Given the description of an element on the screen output the (x, y) to click on. 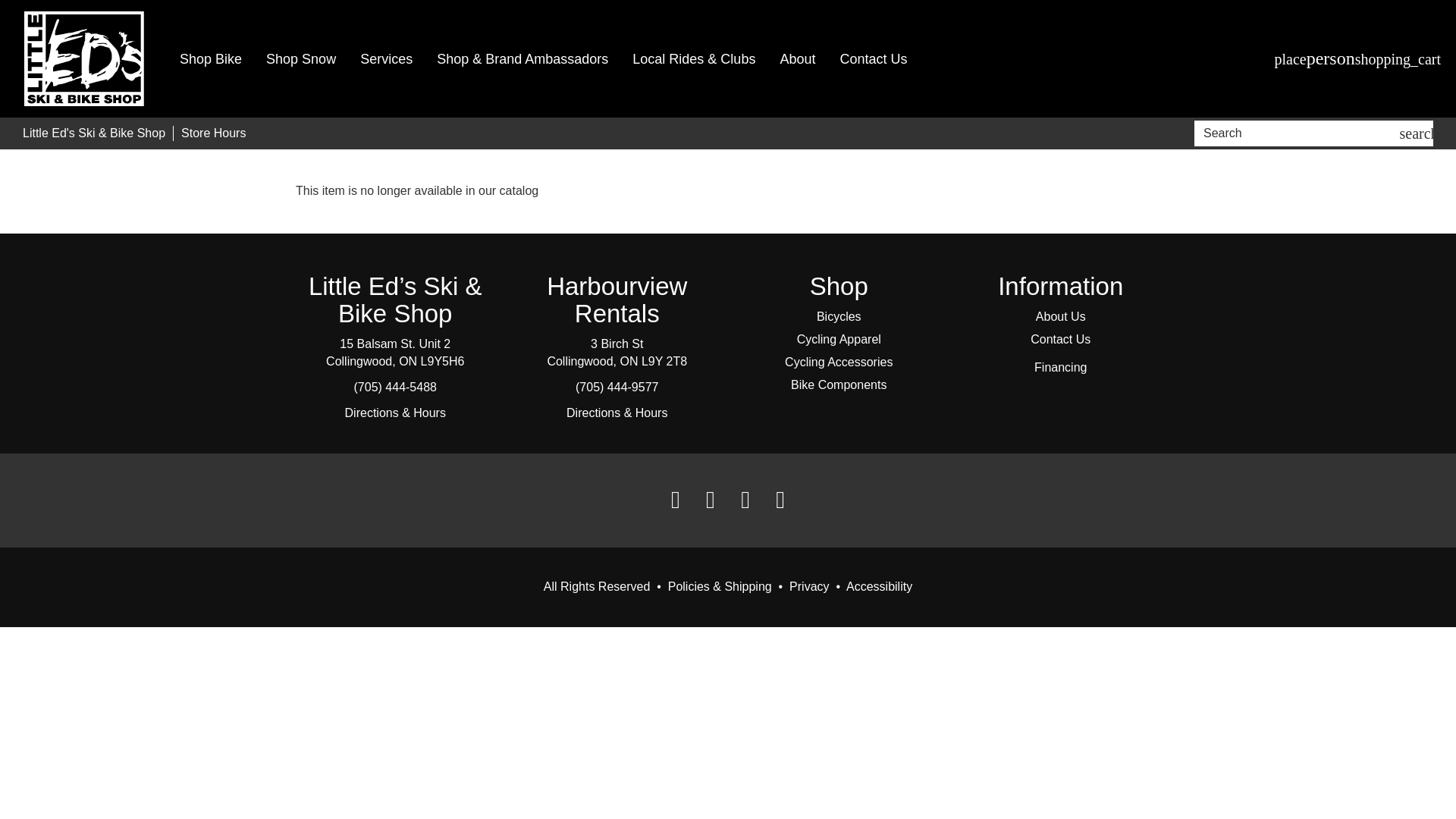
Store Hours (213, 133)
Search (1299, 133)
